Given the description of an element on the screen output the (x, y) to click on. 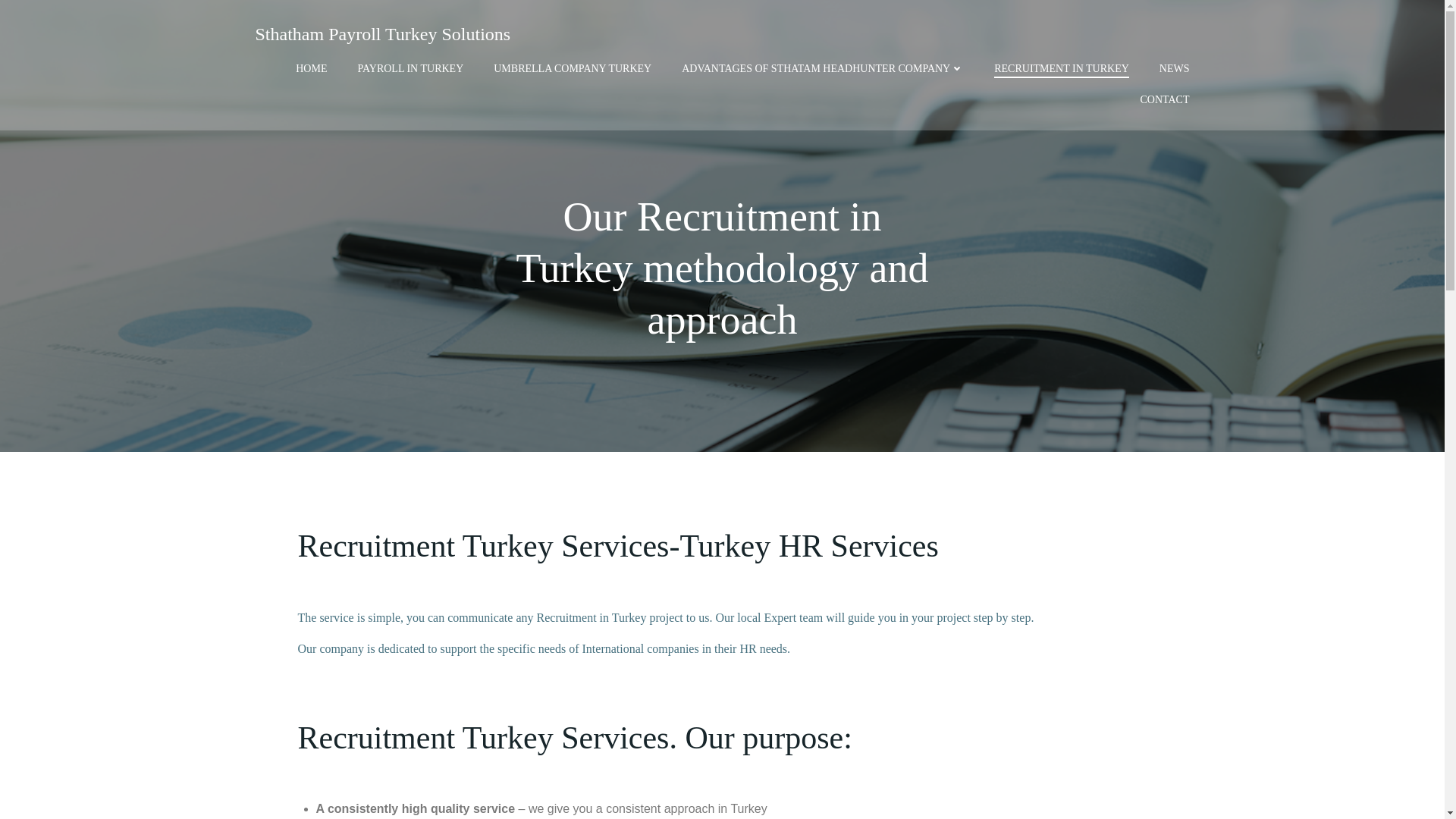
UMBRELLA COMPANY TURKEY (571, 68)
NEWS (1173, 68)
RECRUITMENT IN TURKEY (1061, 68)
HOME (310, 68)
PAYROLL IN TURKEY (409, 68)
Sthatham Payroll Turkey Solutions (382, 33)
ADVANTAGES OF STHATAM HEADHUNTER COMPANY (822, 68)
CONTACT (1164, 99)
